Given the description of an element on the screen output the (x, y) to click on. 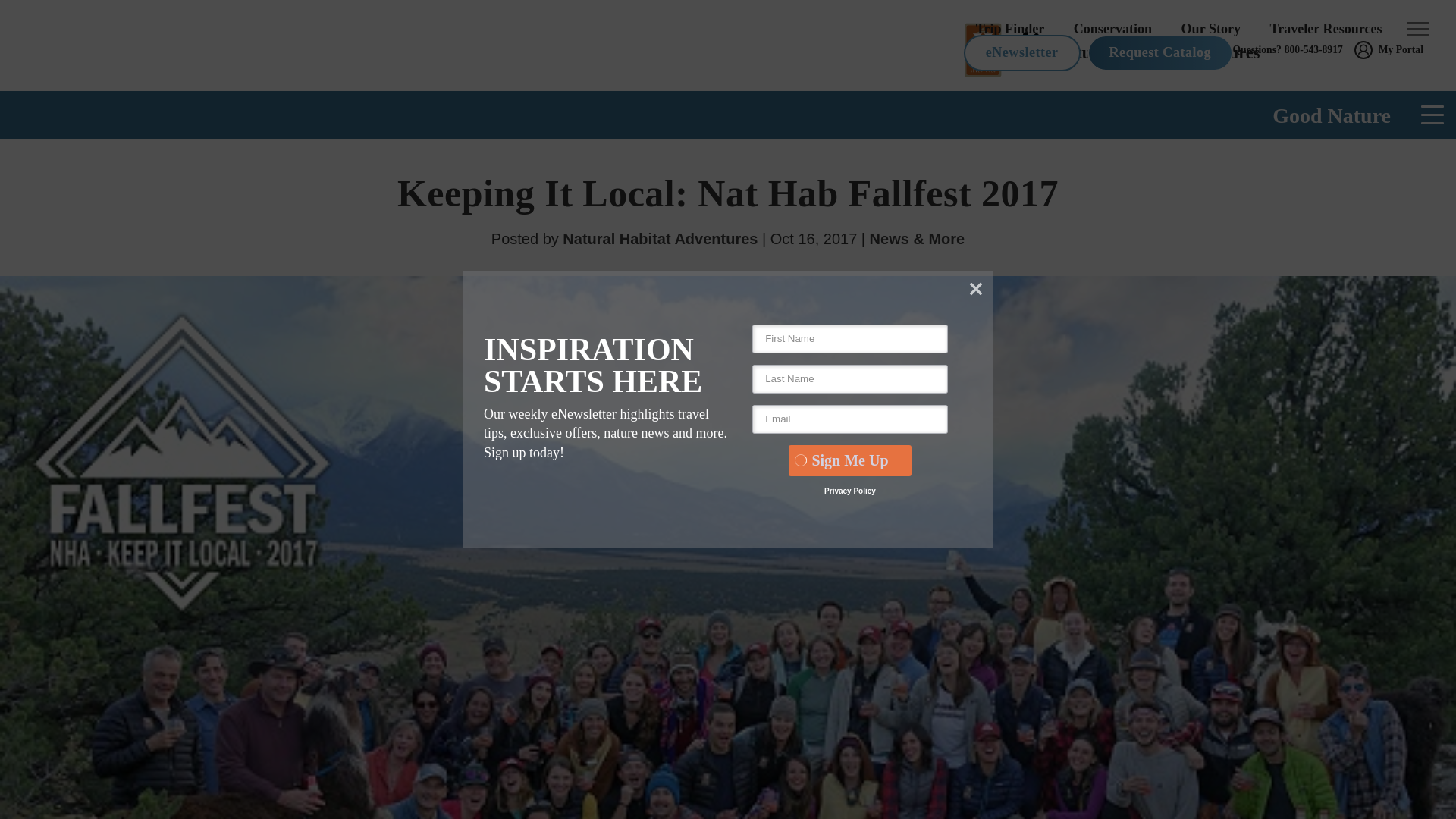
Close (975, 288)
Posts by Natural Habitat Adventures (659, 238)
Natural Habitat Adventures (1202, 52)
